Given the description of an element on the screen output the (x, y) to click on. 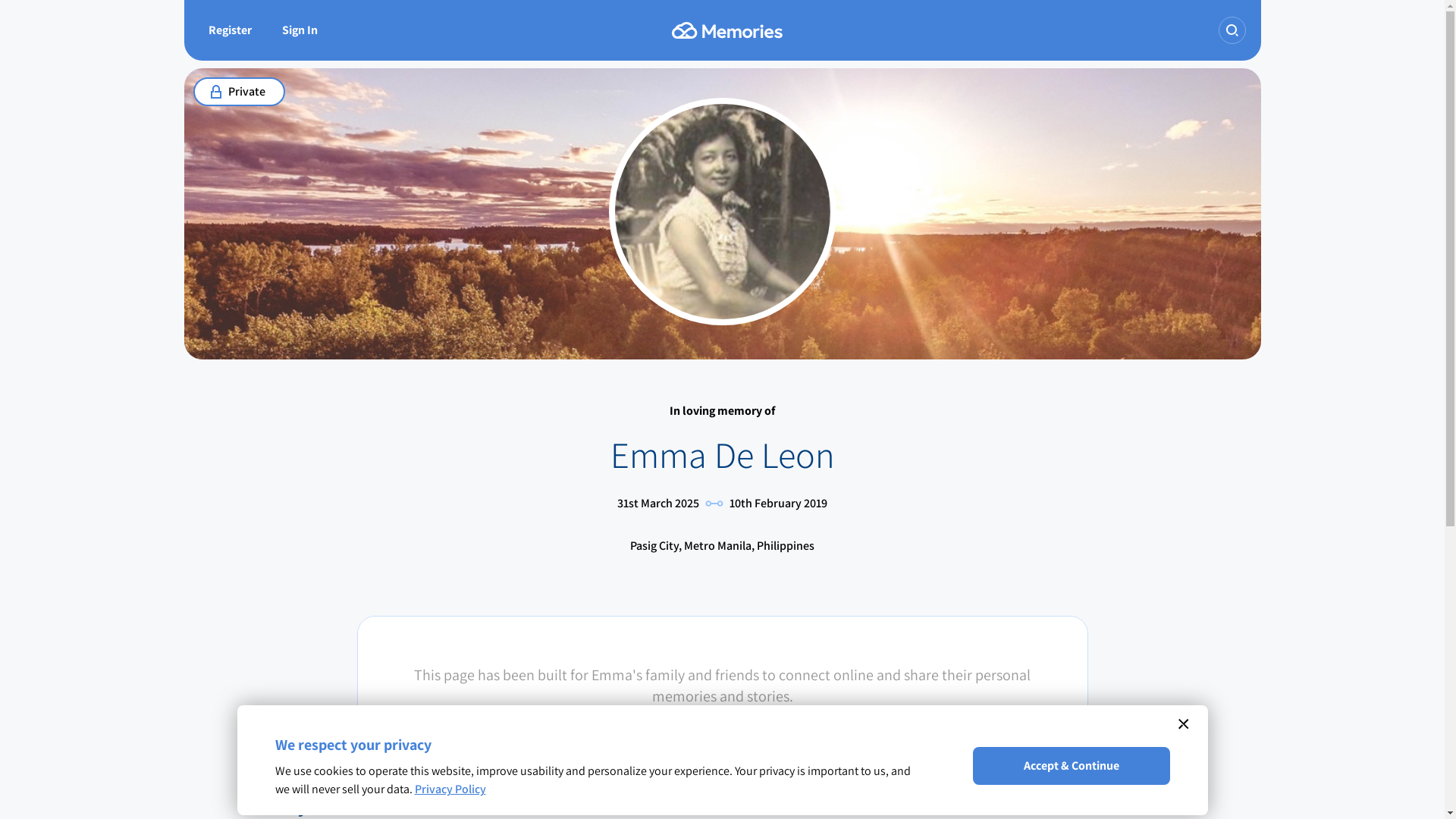
Private Element type: text (235, 91)
Accept & Continue Element type: text (1070, 765)
Privacy Policy Element type: text (449, 789)
Register Element type: text (229, 30)
Sign In Element type: text (299, 30)
Search Timelines Element type: hover (1231, 29)
